Given the description of an element on the screen output the (x, y) to click on. 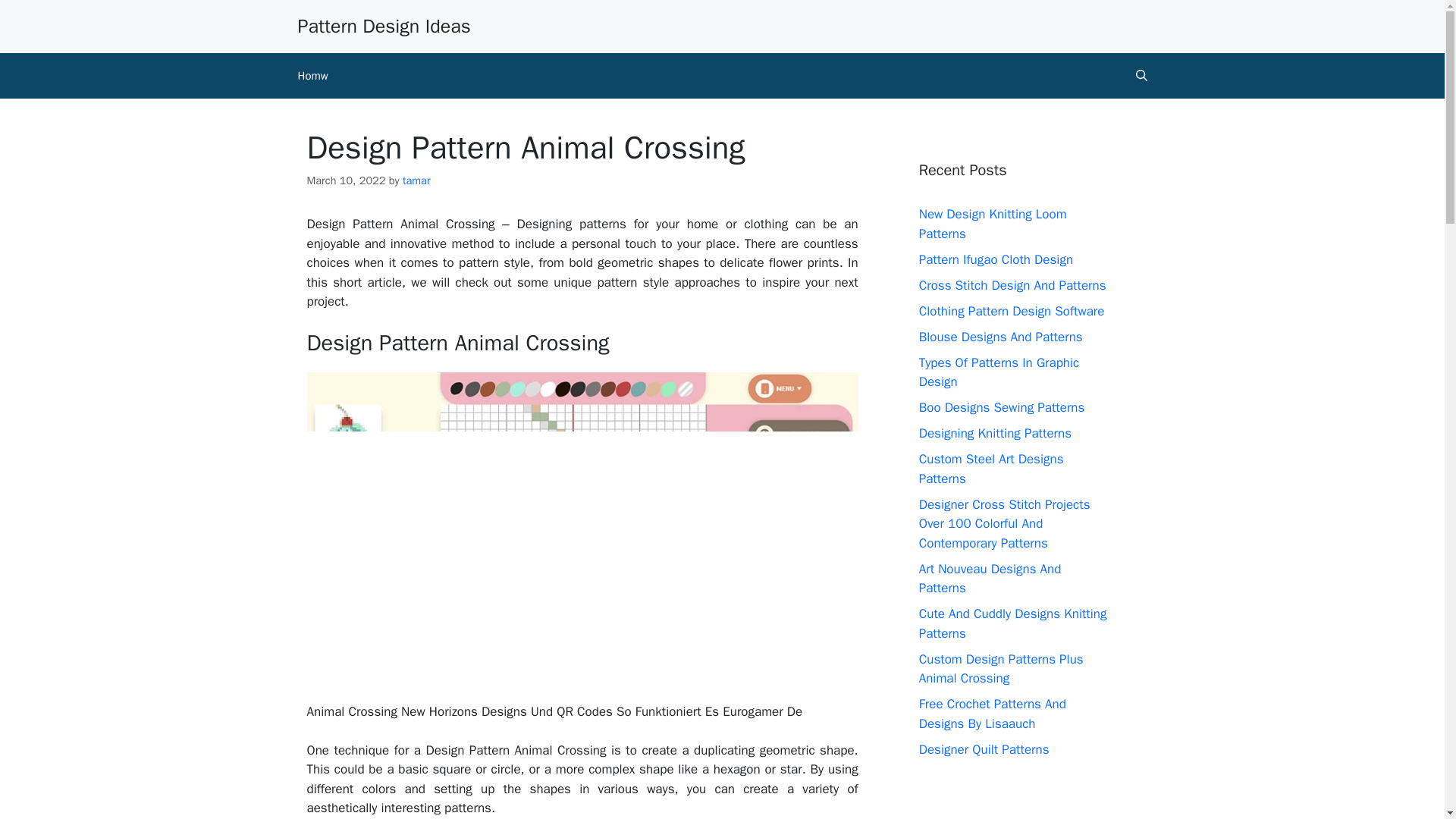
Blouse Designs And Patterns (1000, 336)
Pattern Design Ideas (383, 25)
Clothing Pattern Design Software (1011, 311)
Boo Designs Sewing Patterns (1001, 407)
tamar (416, 180)
New Design Knitting Loom Patterns (992, 223)
View all posts by tamar (416, 180)
Types Of Patterns In Graphic Design (999, 372)
Cross Stitch Design And Patterns (1012, 285)
Pattern Ifugao Cloth Design (995, 259)
Homw (312, 75)
